Given the description of an element on the screen output the (x, y) to click on. 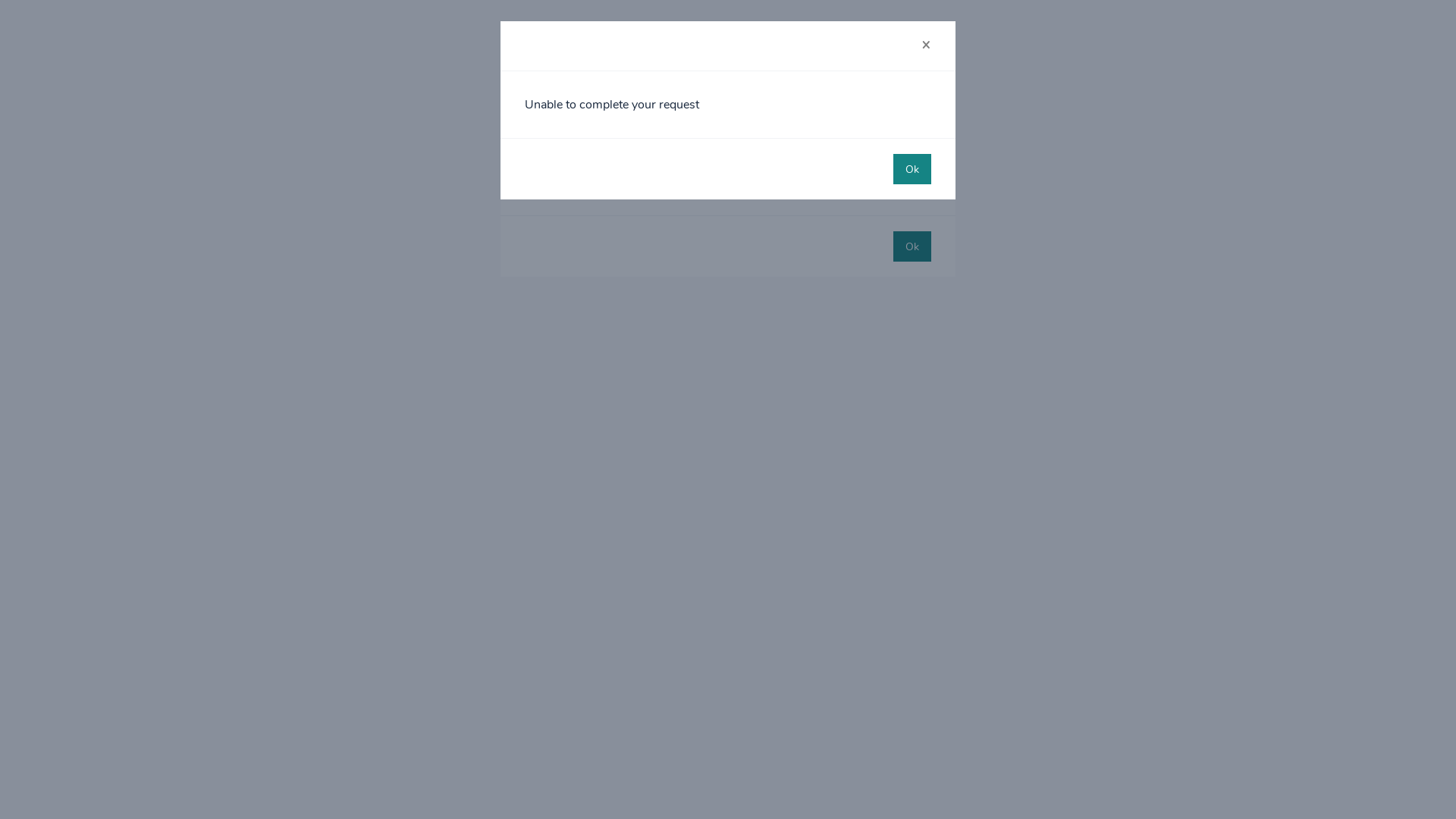
You can find out more about privacy here. Element type: text (716, 175)
Ok Element type: text (912, 246)
You can find out more about cookies here Element type: text (683, 167)
Ok Element type: text (912, 168)
